Given the description of an element on the screen output the (x, y) to click on. 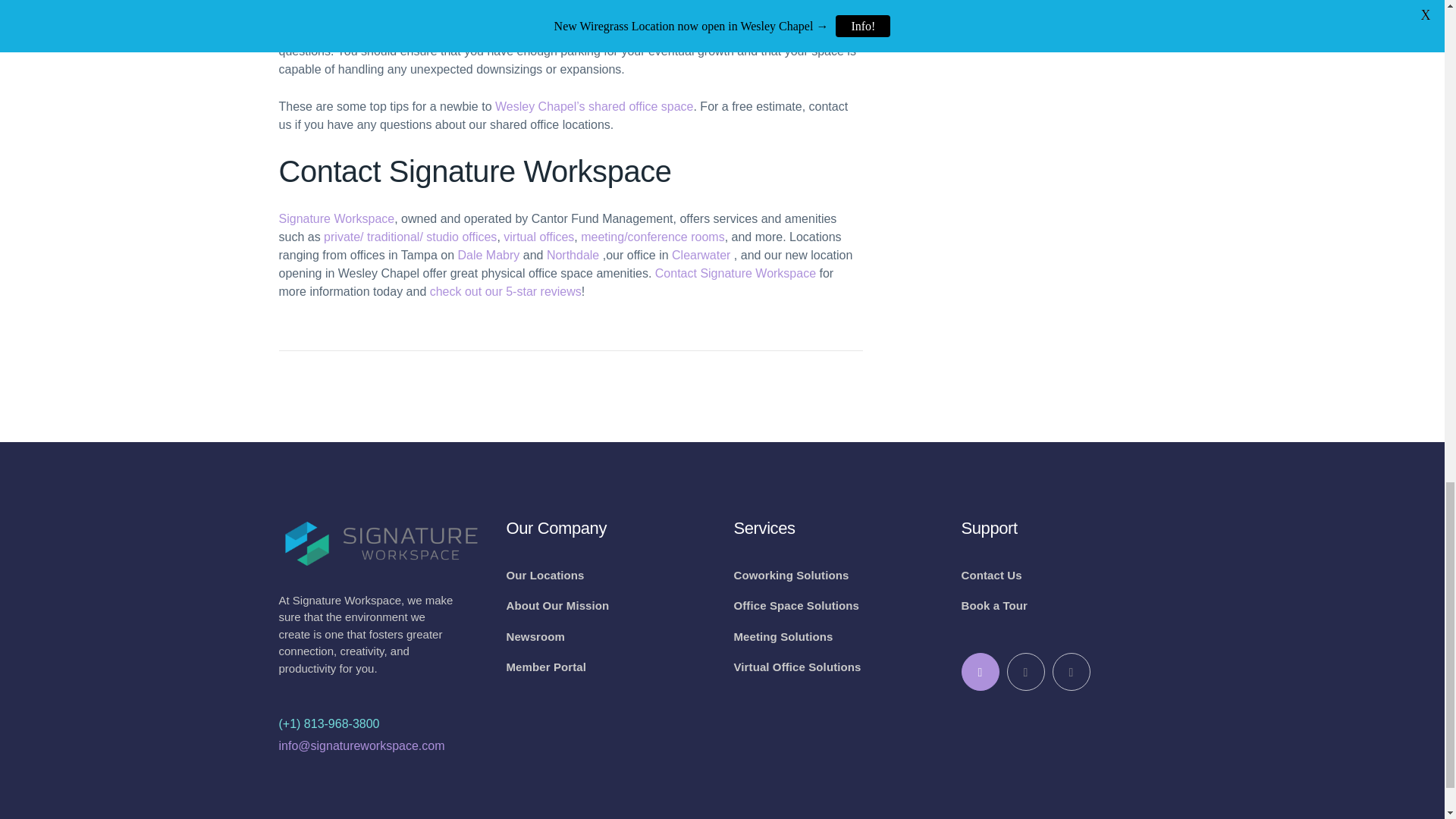
Dale Mabry (488, 254)
linkedin (1026, 671)
short-term lease (424, 32)
Signature Workspace (336, 218)
check out our 5-star reviews (504, 291)
instagram (1071, 671)
virtual offices (538, 236)
facebook-f (979, 671)
Northdale (572, 254)
Clearwater (700, 254)
Contact Signature Workspace (735, 273)
